Given the description of an element on the screen output the (x, y) to click on. 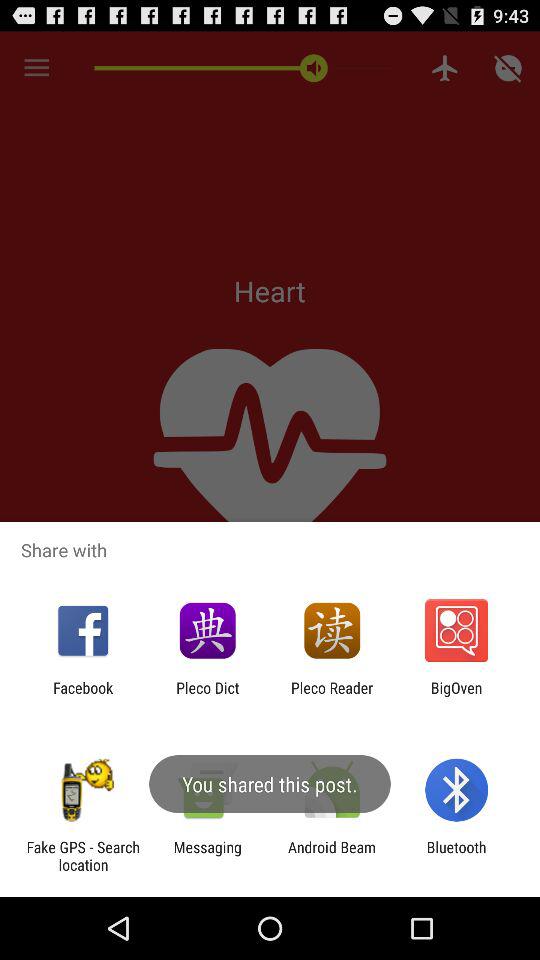
launch android beam item (332, 856)
